Given the description of an element on the screen output the (x, y) to click on. 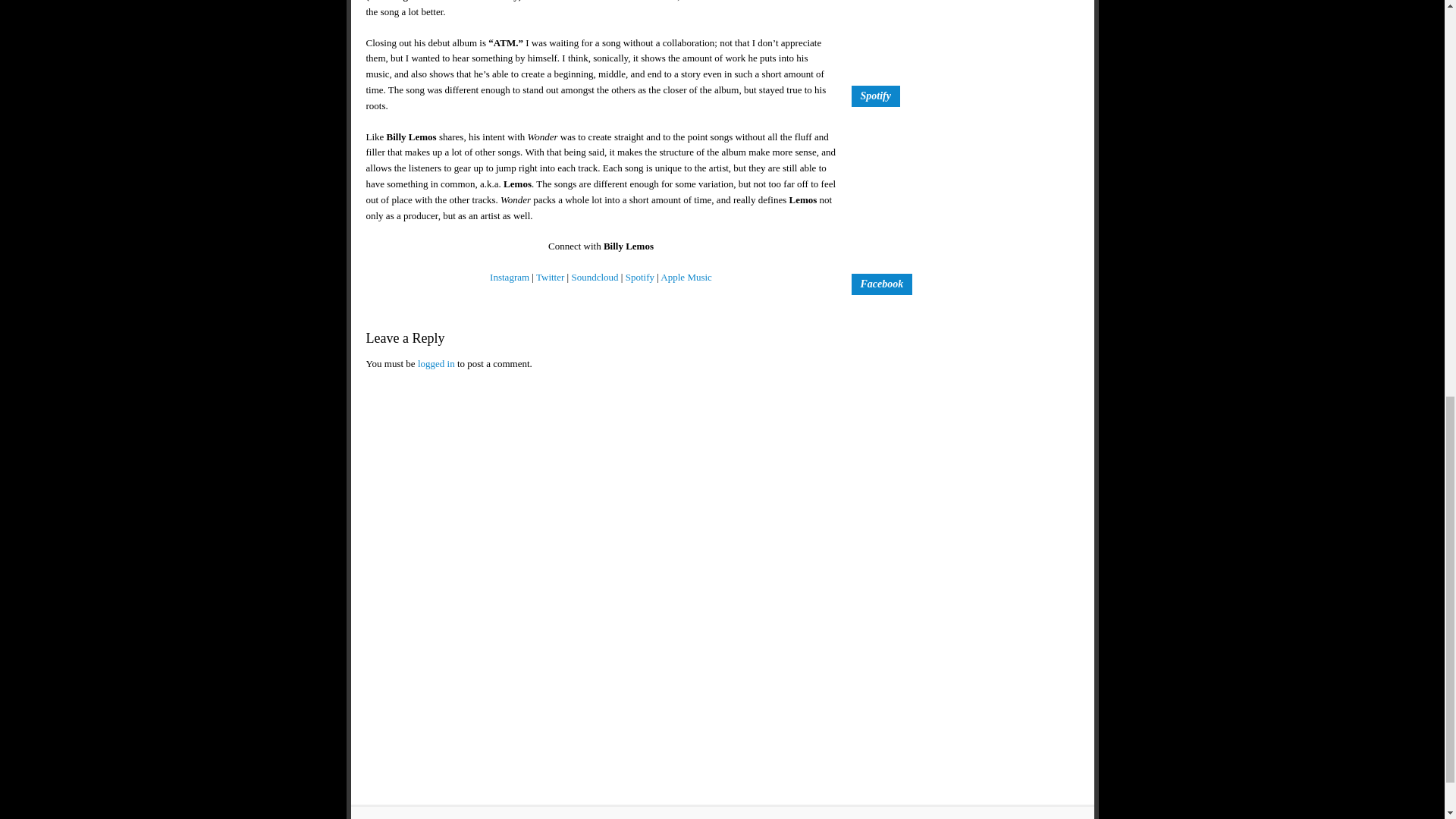
Apple Music (686, 276)
Spotify (639, 276)
Twitter (549, 276)
Instagram (509, 276)
Soundcloud (593, 276)
